Given the description of an element on the screen output the (x, y) to click on. 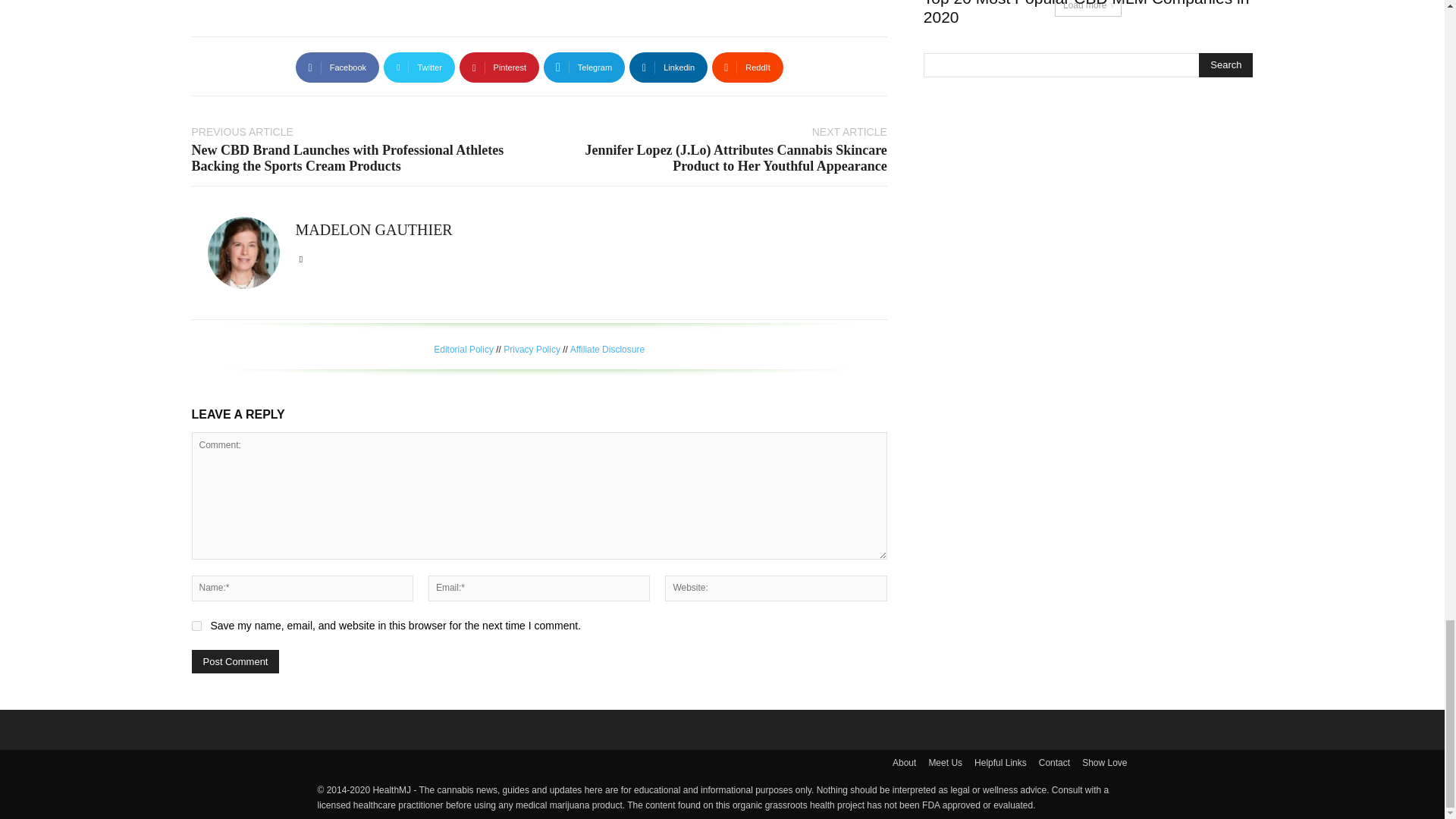
yes (195, 625)
linkedin (301, 256)
Post Comment (234, 661)
